Given the description of an element on the screen output the (x, y) to click on. 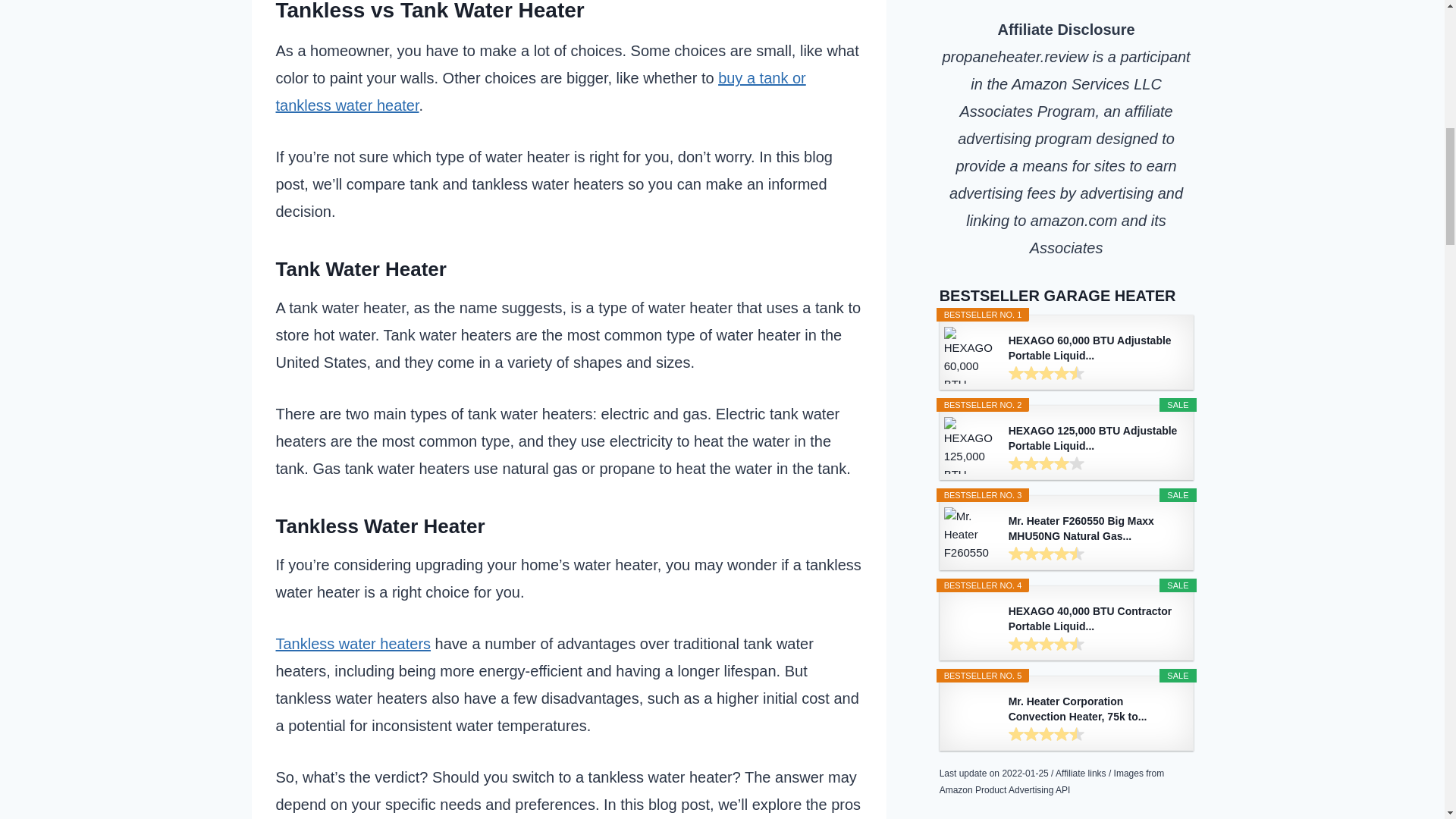
Tankless water heaters (353, 643)
buy a tank or tankless water heater (541, 91)
